Given the description of an element on the screen output the (x, y) to click on. 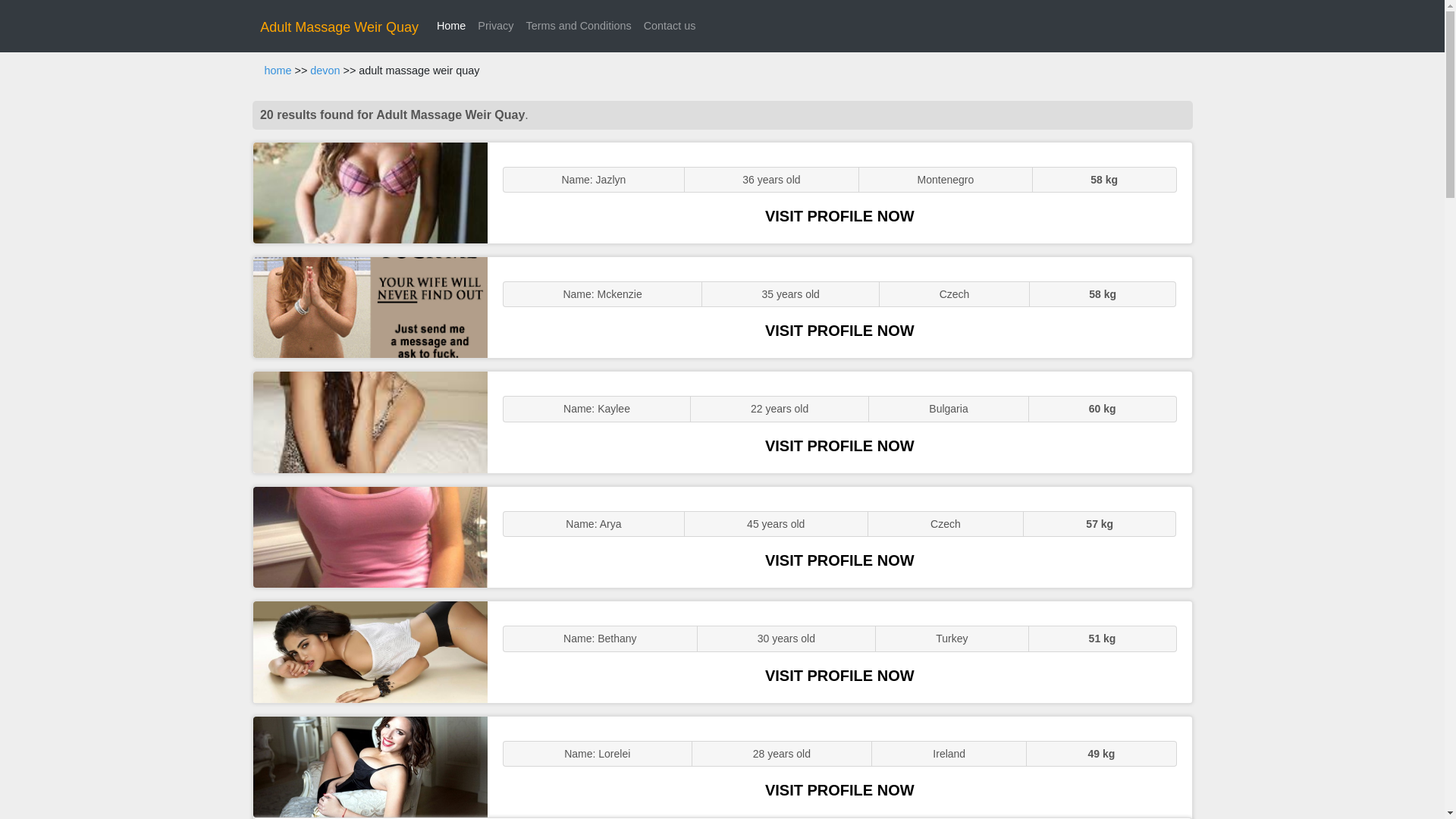
VISIT PROFILE NOW (839, 330)
Sexy (370, 421)
Contact us (669, 25)
Terms and Conditions (578, 25)
VISIT PROFILE NOW (839, 560)
home (277, 70)
Sluts (370, 651)
GFE (370, 307)
VISIT PROFILE NOW (839, 445)
Sluts (370, 537)
Privacy (495, 25)
VISIT PROFILE NOW (839, 675)
devon (324, 70)
VISIT PROFILE NOW (839, 216)
Adult Massage Weir Quay (339, 27)
